Given the description of an element on the screen output the (x, y) to click on. 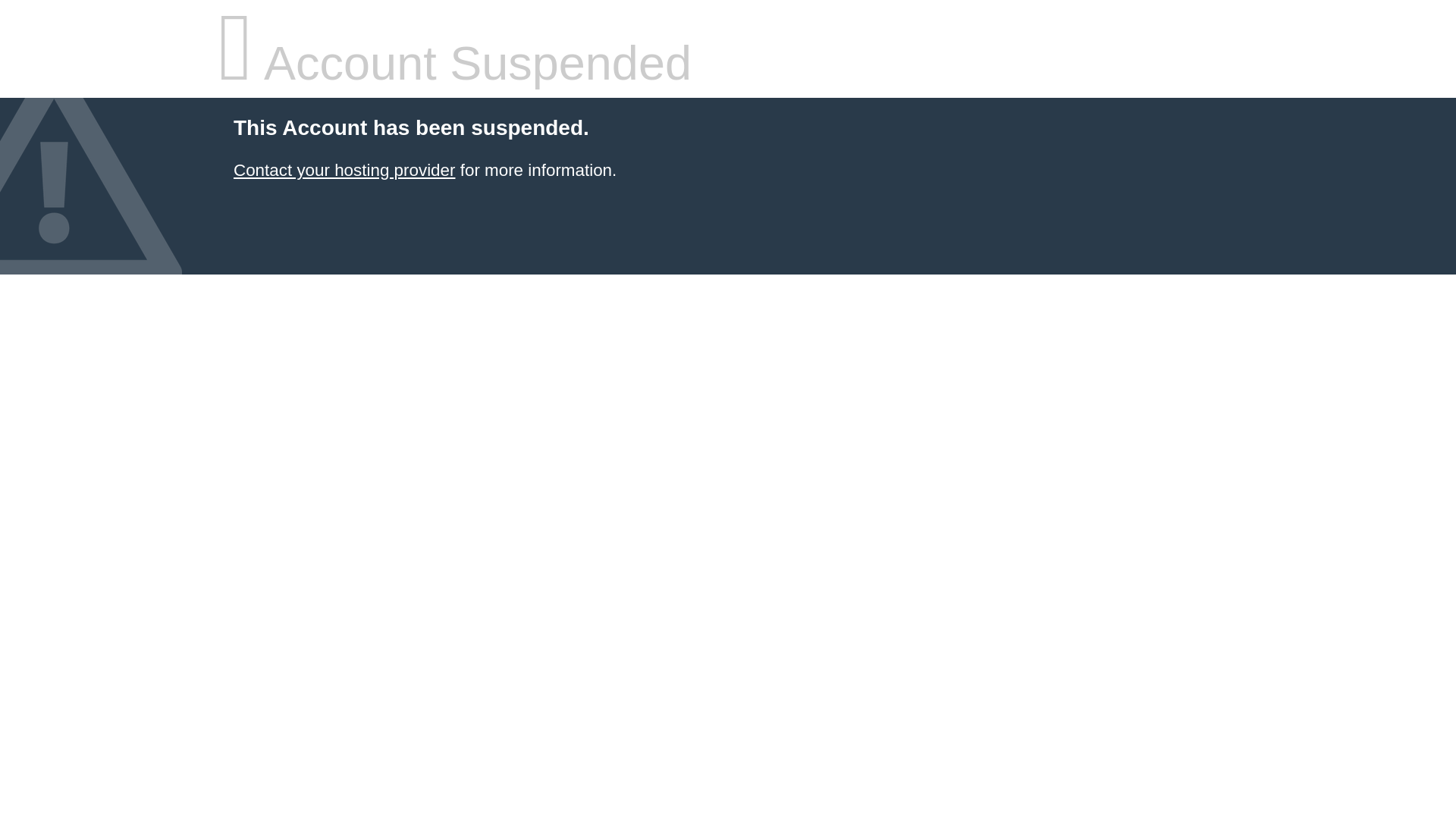
Contact your hosting provider (343, 169)
